Given the description of an element on the screen output the (x, y) to click on. 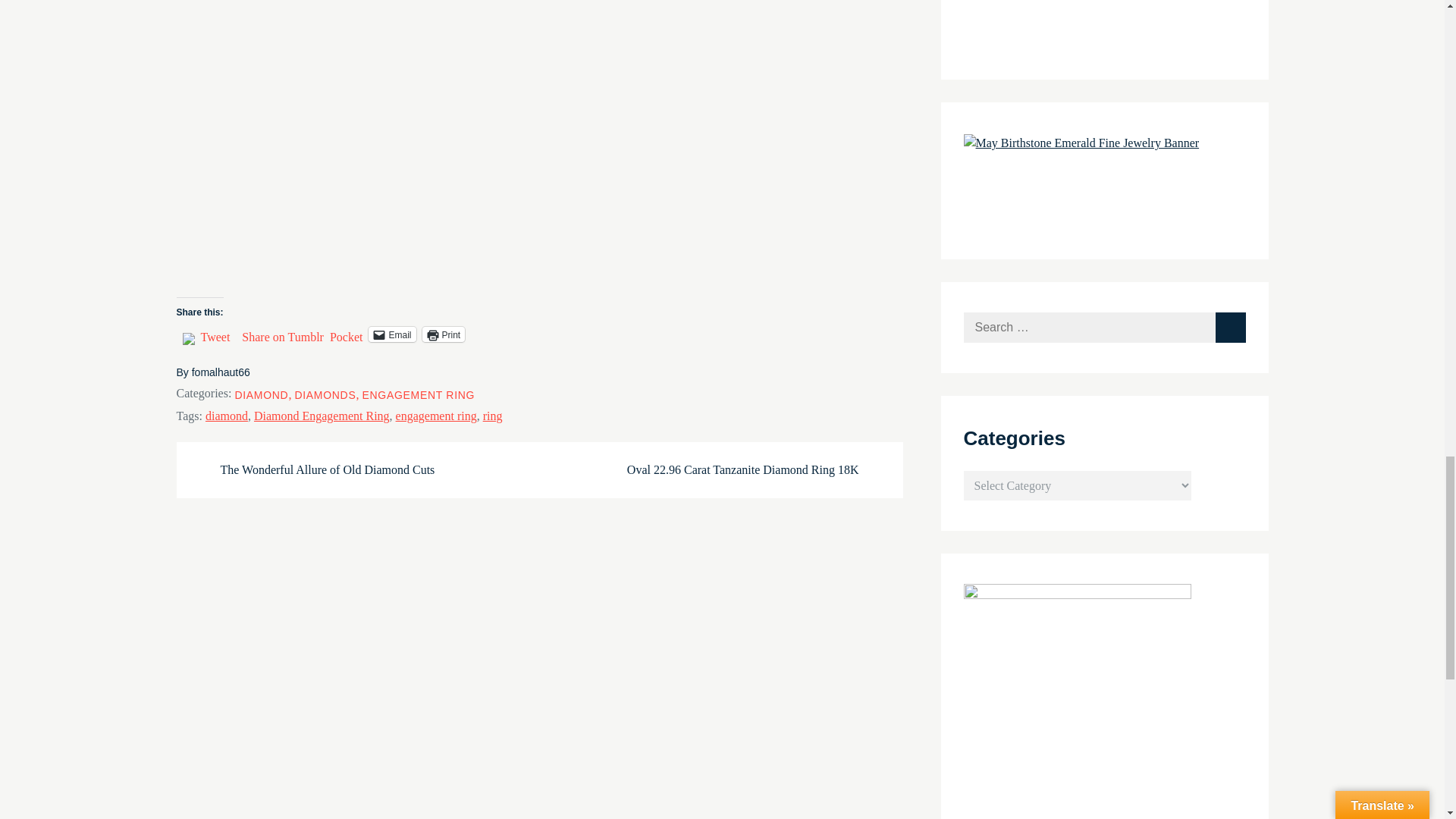
Share on Tumblr (282, 333)
fomalhaut66 (221, 372)
DIAMONDS (324, 395)
Tweet (215, 333)
ring (492, 415)
Share on Tumblr (282, 333)
Print (443, 334)
DIAMOND (261, 395)
Click to email a link to a friend (391, 334)
ENGAGEMENT RING (417, 395)
